Given the description of an element on the screen output the (x, y) to click on. 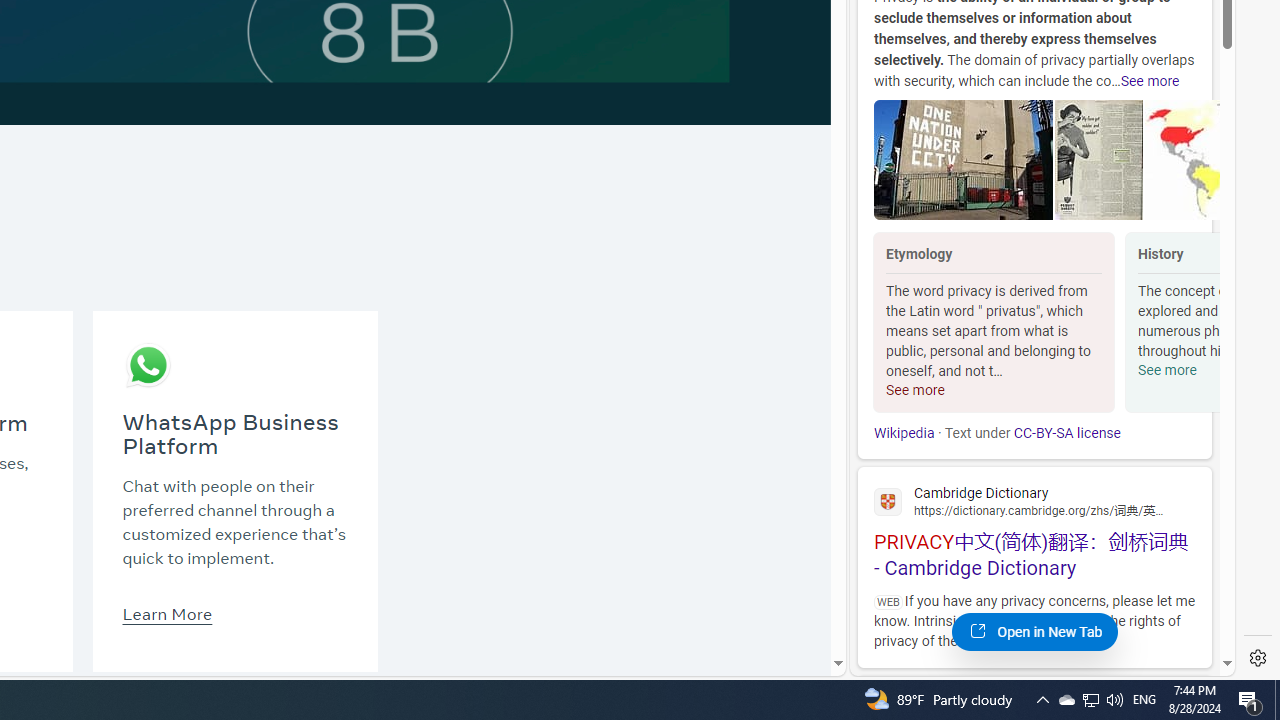
Global web icon (888, 501)
Cambridge Dictionary (1034, 500)
Wikipedia (904, 433)
CC-BY-SA license (1066, 433)
Learn More (166, 613)
Click to scroll right (1196, 324)
